Given the description of an element on the screen output the (x, y) to click on. 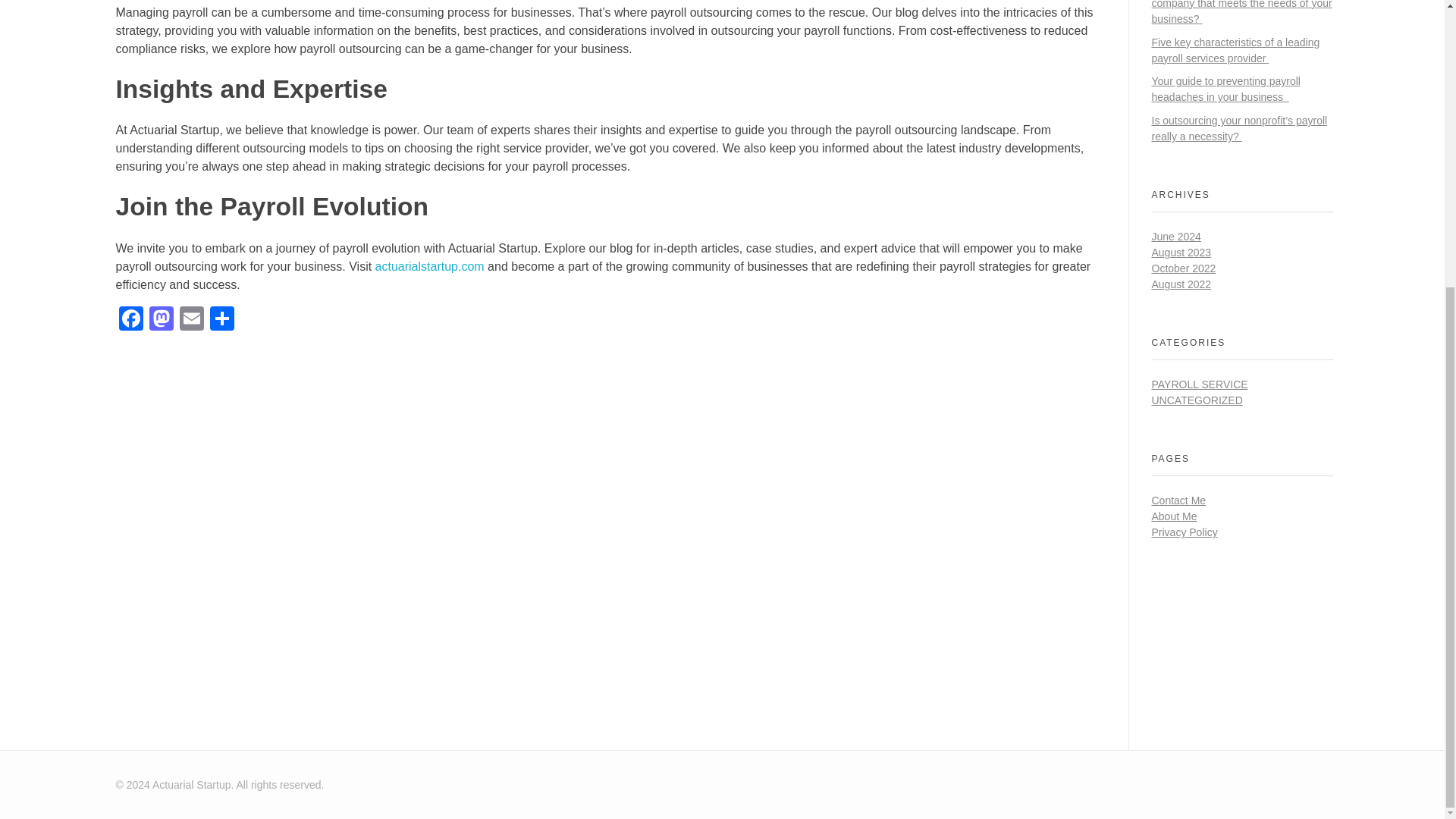
About Me (1173, 516)
Mastodon (160, 320)
Facebook (130, 320)
PAYROLL SERVICE (1199, 384)
October 2022 (1183, 268)
actuarialstartup.com (429, 266)
Privacy Policy (1184, 532)
Contact Me (1178, 500)
Mastodon (160, 320)
Facebook (130, 320)
June 2024 (1175, 236)
August 2023 (1181, 252)
